Given the description of an element on the screen output the (x, y) to click on. 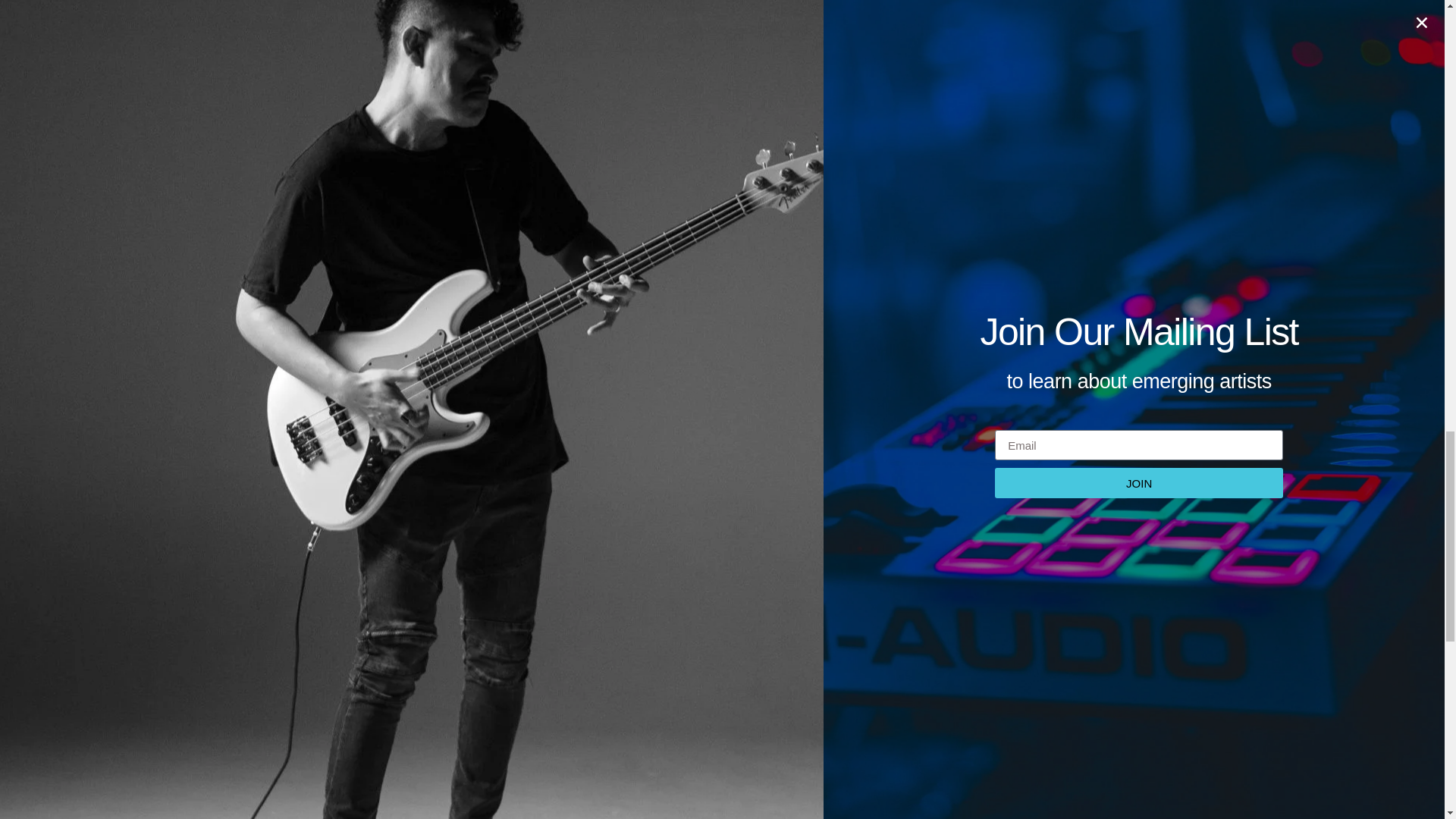
Instagram (543, 105)
Facebook (543, 139)
Spotify (542, 172)
Share (230, 222)
